Given the description of an element on the screen output the (x, y) to click on. 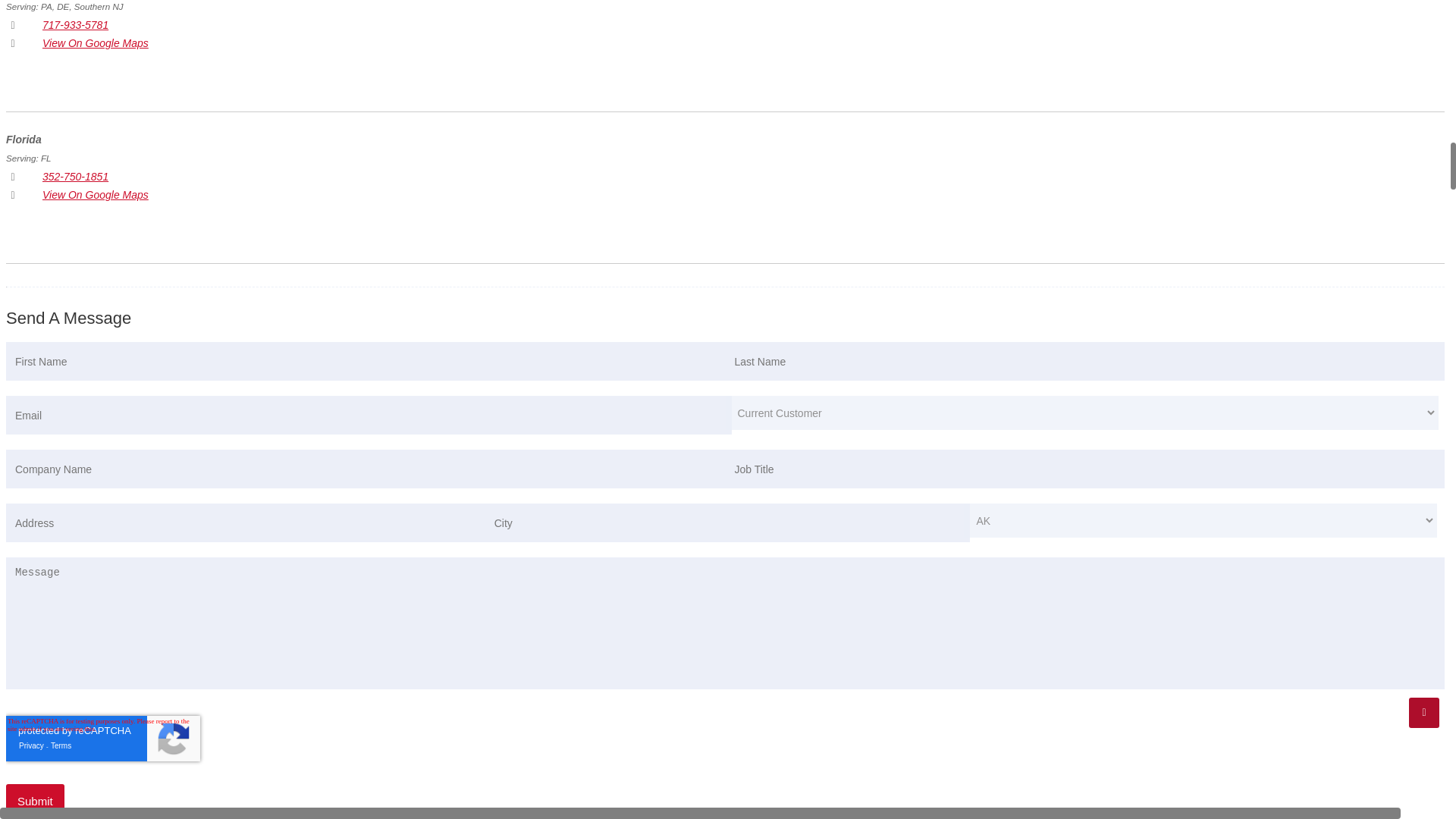
Submit (34, 800)
